Given the description of an element on the screen output the (x, y) to click on. 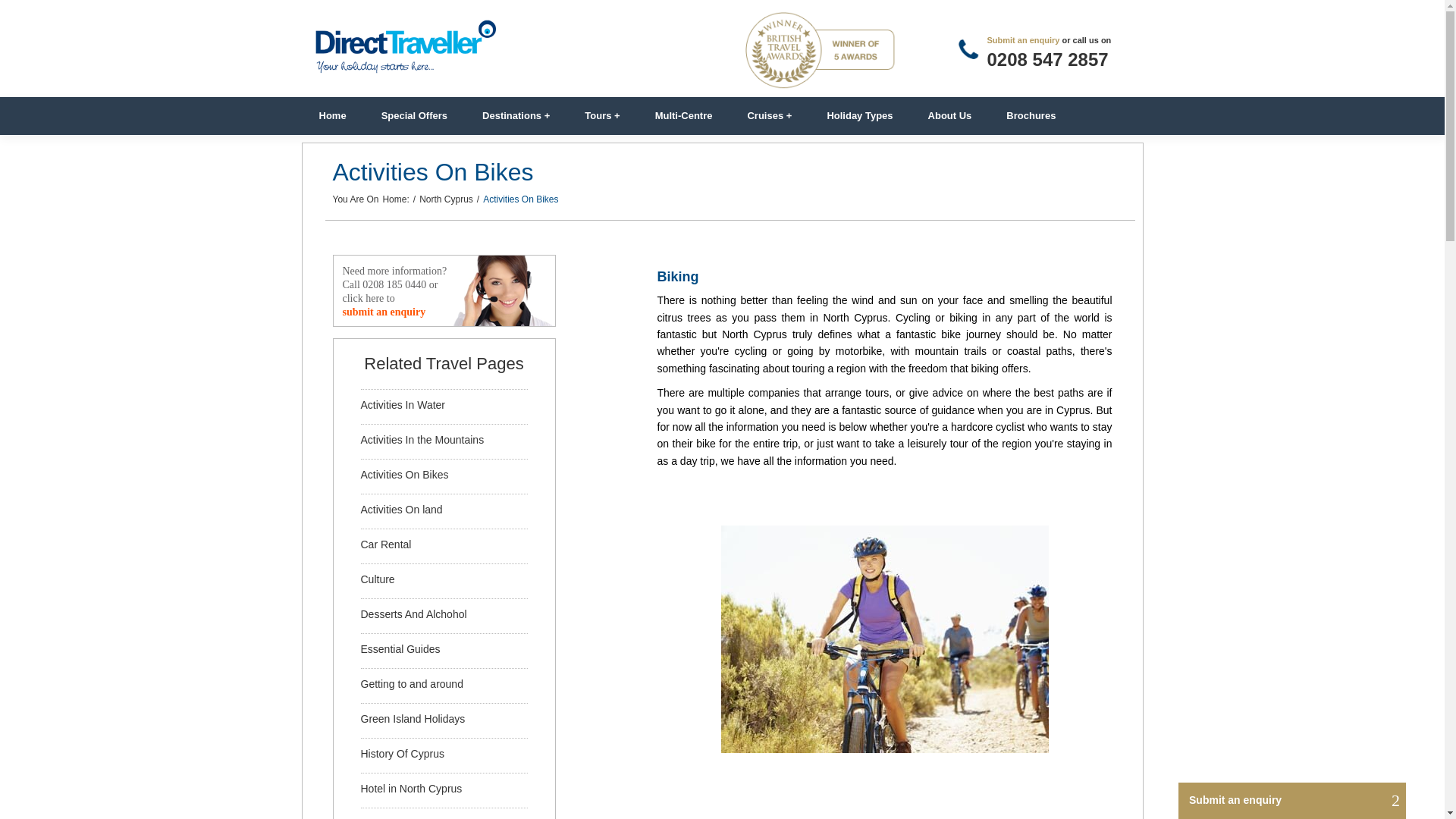
Submit an enquiry or call us on (1023, 40)
Submit an enquiry (1023, 40)
